Given the description of an element on the screen output the (x, y) to click on. 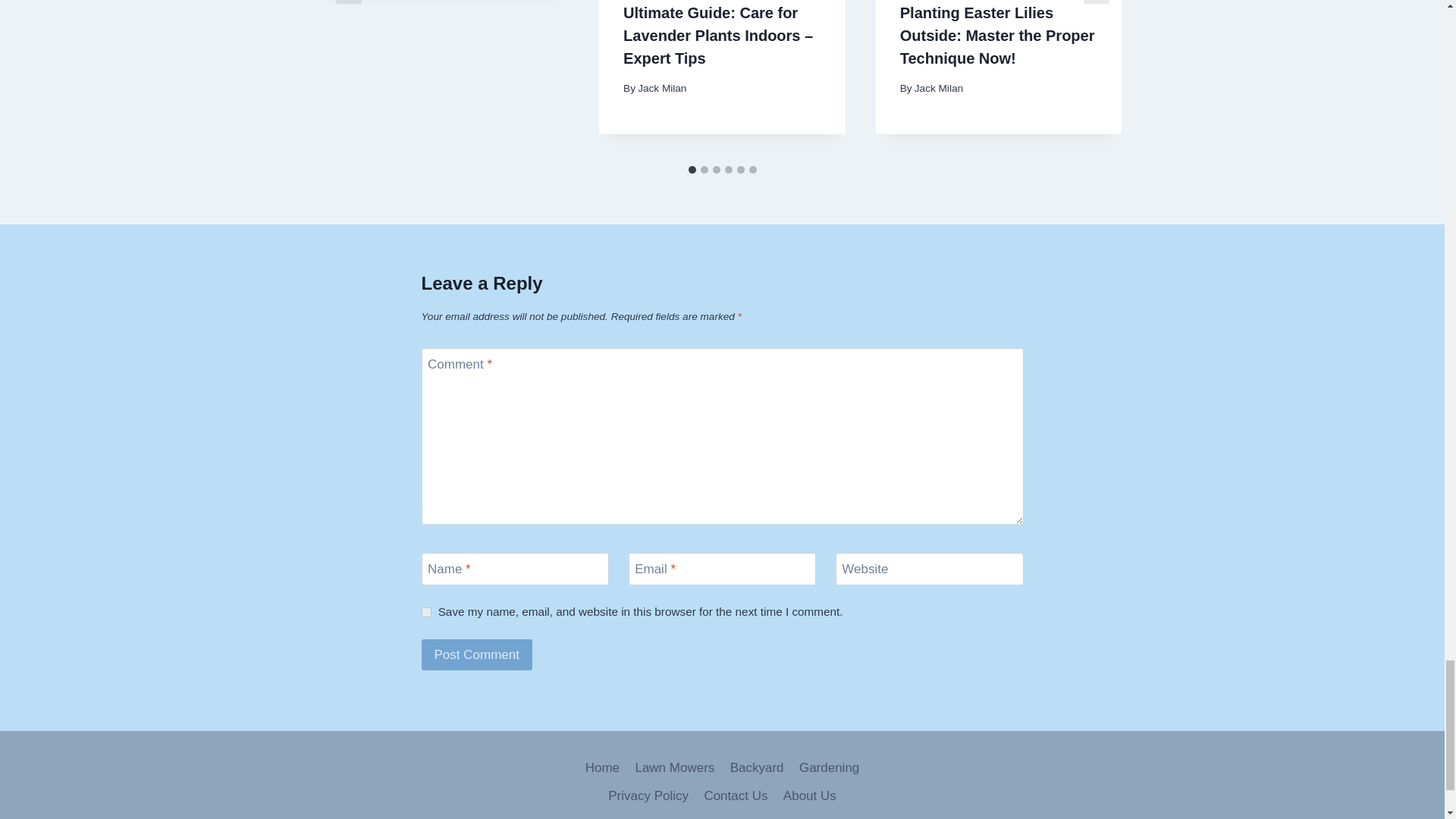
Post Comment (477, 654)
yes (426, 612)
